Given the description of an element on the screen output the (x, y) to click on. 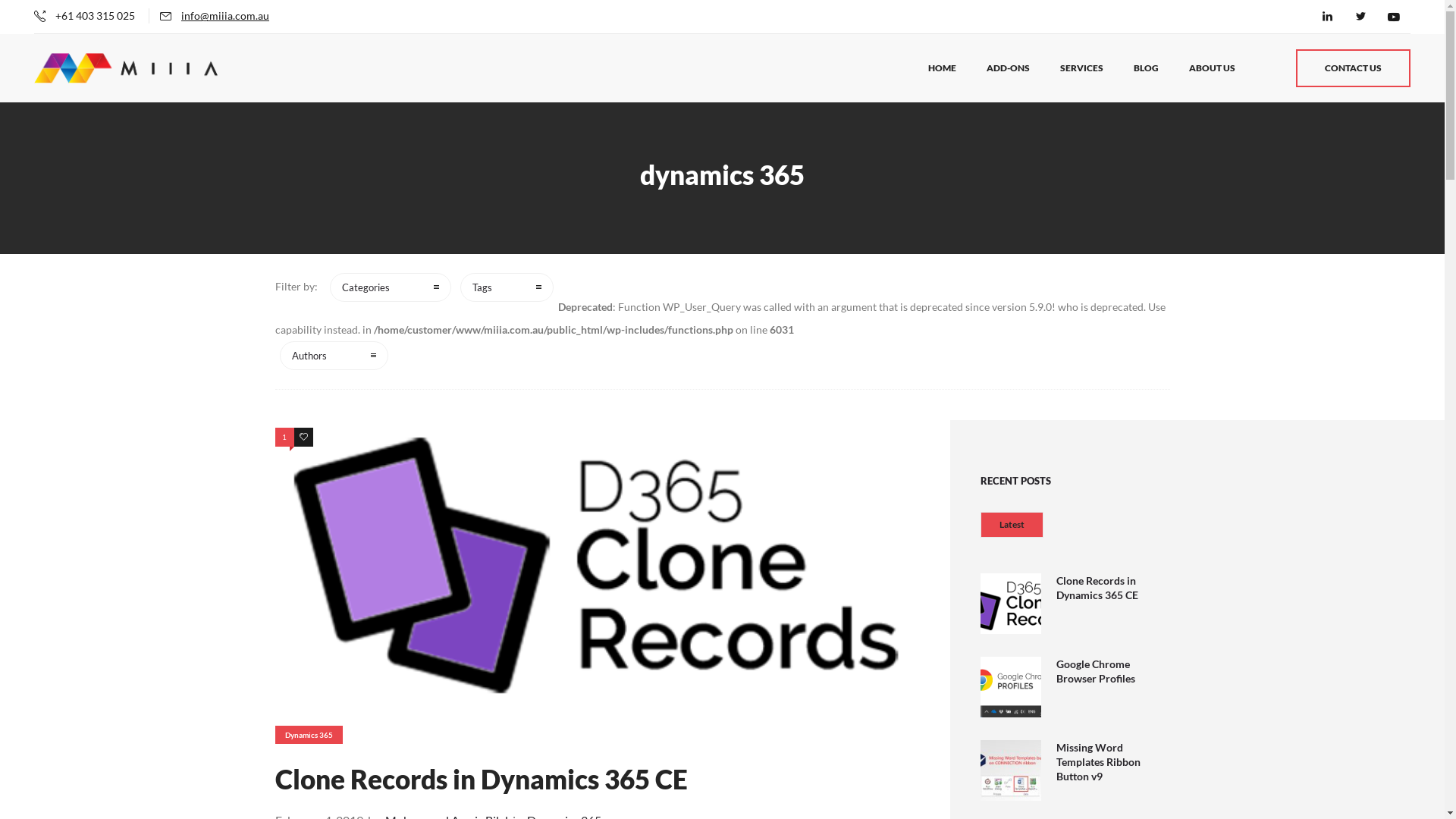
Authors Element type: text (333, 355)
BLOG Element type: text (1145, 68)
Latest Element type: text (1011, 524)
Dynamics 365 Element type: text (308, 734)
Clone Records in Dynamics 365 CE Element type: text (480, 778)
Categories Element type: text (389, 287)
1 Element type: text (283, 436)
ABOUT US Element type: text (1211, 68)
ADD-ONS Element type: text (1007, 68)
info@miiia.com.au Element type: text (225, 15)
CONTACT US Element type: text (1352, 68)
SERVICES Element type: text (1081, 68)
Clone Records in Dynamics 365 CE Element type: text (1096, 590)
HOME Element type: text (942, 68)
Google Chrome Browser Profiles Element type: text (1094, 673)
Tags Element type: text (505, 287)
YouTube Element type: hover (1393, 16)
Missing Word Templates Ribbon Button v9 Element type: text (1097, 763)
+61 403 315 025 Element type: text (94, 15)
LinkedIN Element type: hover (1326, 16)
Twitter Element type: hover (1360, 16)
